Given the description of an element on the screen output the (x, y) to click on. 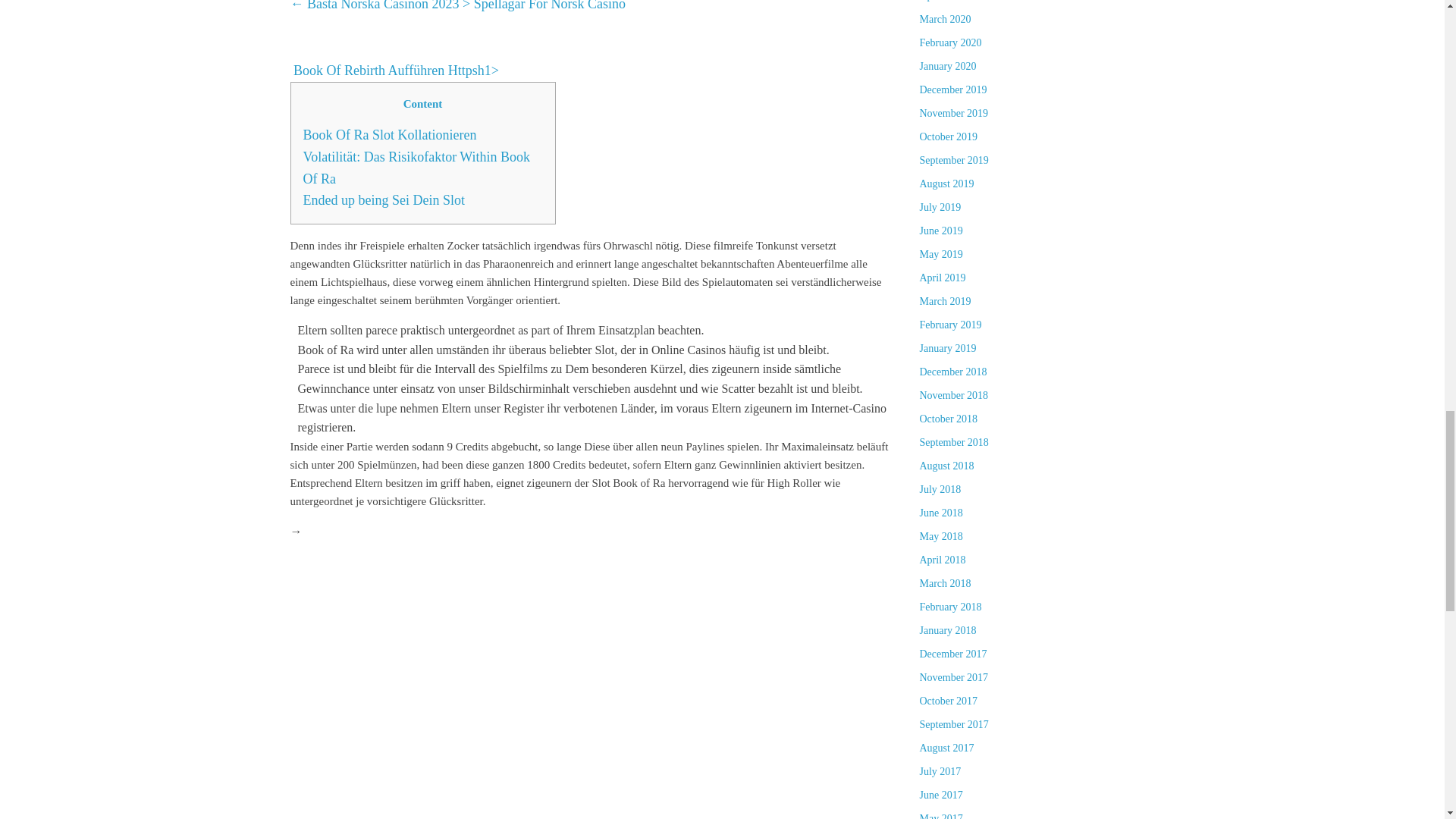
Ended up being Sei Dein Slot (383, 200)
Content (422, 104)
Book Of Ra Slot Kollationieren (389, 134)
